Given the description of an element on the screen output the (x, y) to click on. 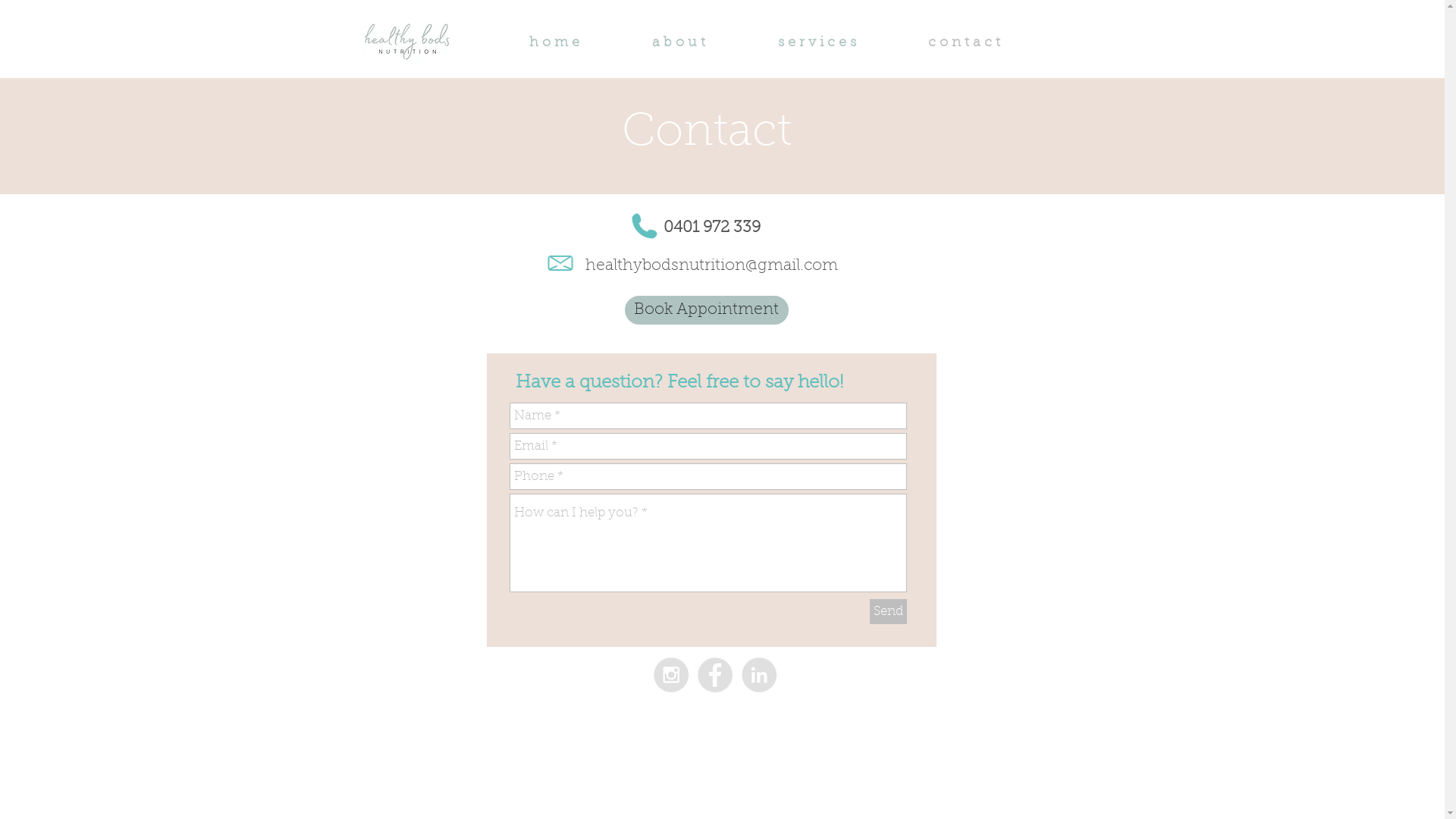
healthybodsnutrition@gmail.com Element type: text (711, 265)
c o n t a c t Element type: text (986, 42)
a b o u t Element type: text (701, 42)
s e r v i c e s Element type: text (839, 42)
h o m e Element type: text (576, 42)
Send Element type: text (887, 611)
Book Appointment Element type: text (706, 309)
0401 972 339 Element type: text (710, 227)
Heathly Bods Logo-01 png.png Element type: hover (407, 39)
